Given the description of an element on the screen output the (x, y) to click on. 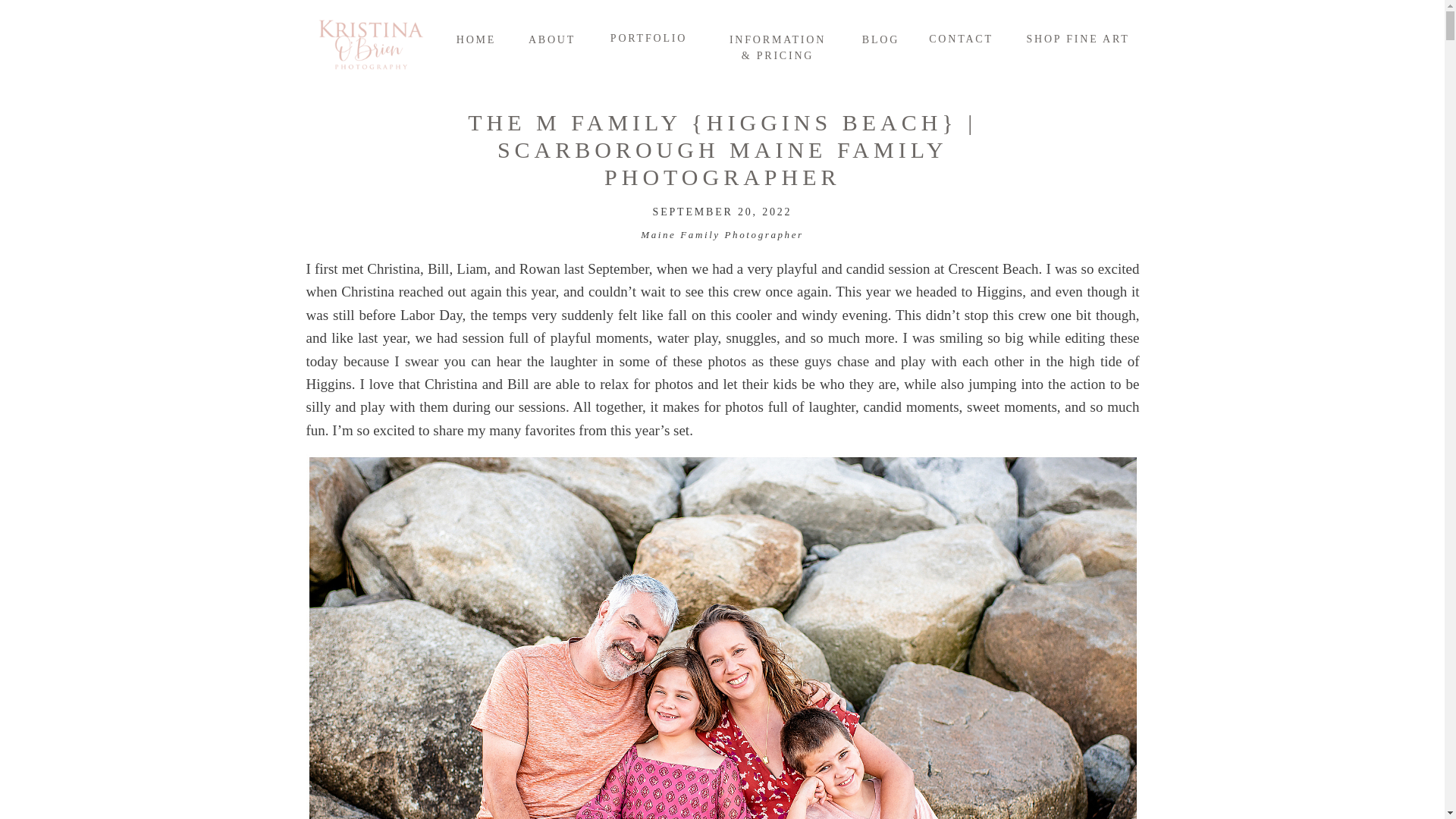
BLOG (880, 38)
Maine Family Photographer (721, 234)
SHOP FINE ART (1077, 38)
CONTACT (960, 38)
PORTFOLIO (648, 37)
HOME (475, 38)
ABOUT (550, 38)
